Given the description of an element on the screen output the (x, y) to click on. 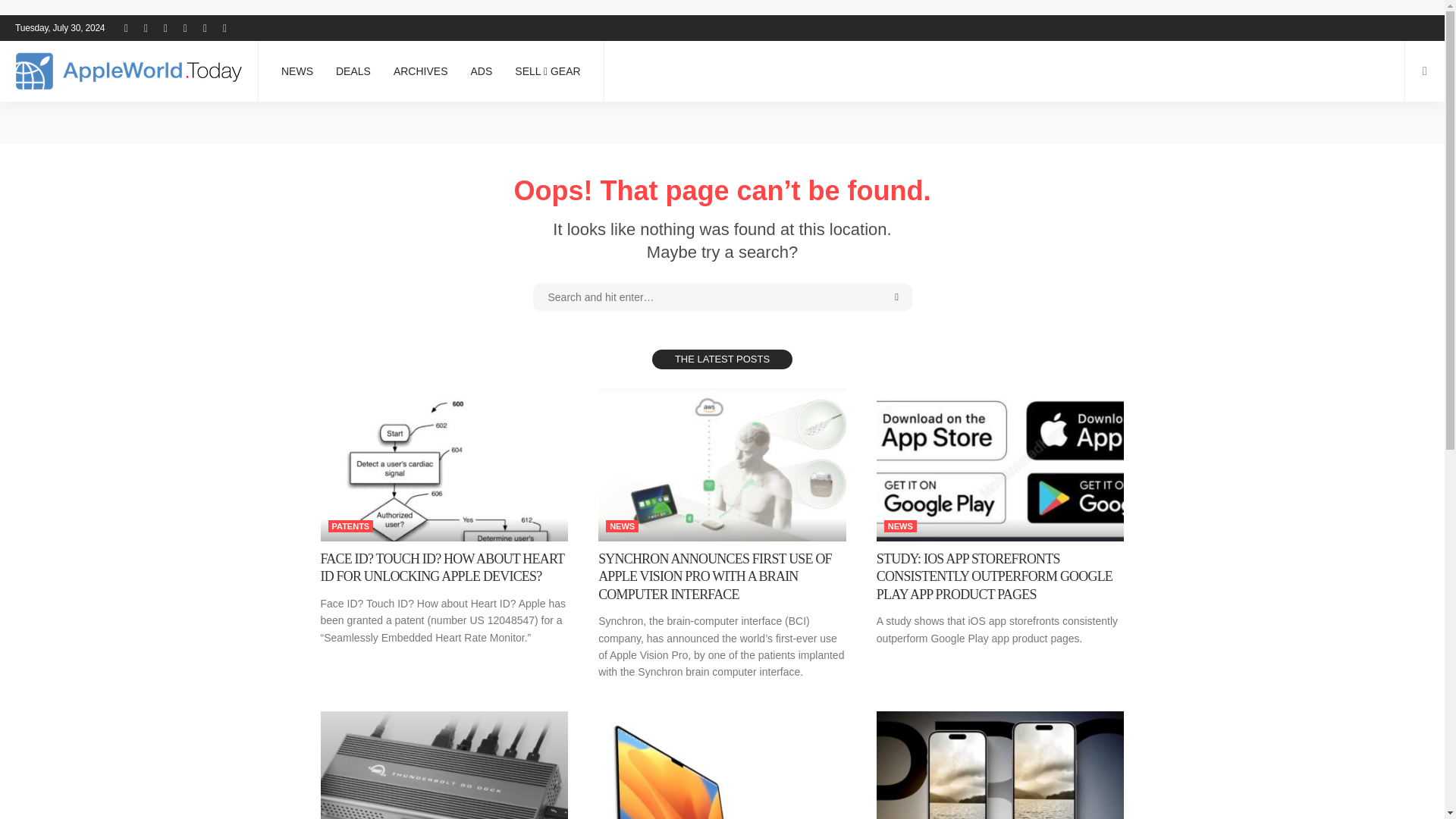
search for: (721, 297)
Apple World Today (128, 70)
Patents (349, 526)
News (900, 526)
News (622, 526)
